Given the description of an element on the screen output the (x, y) to click on. 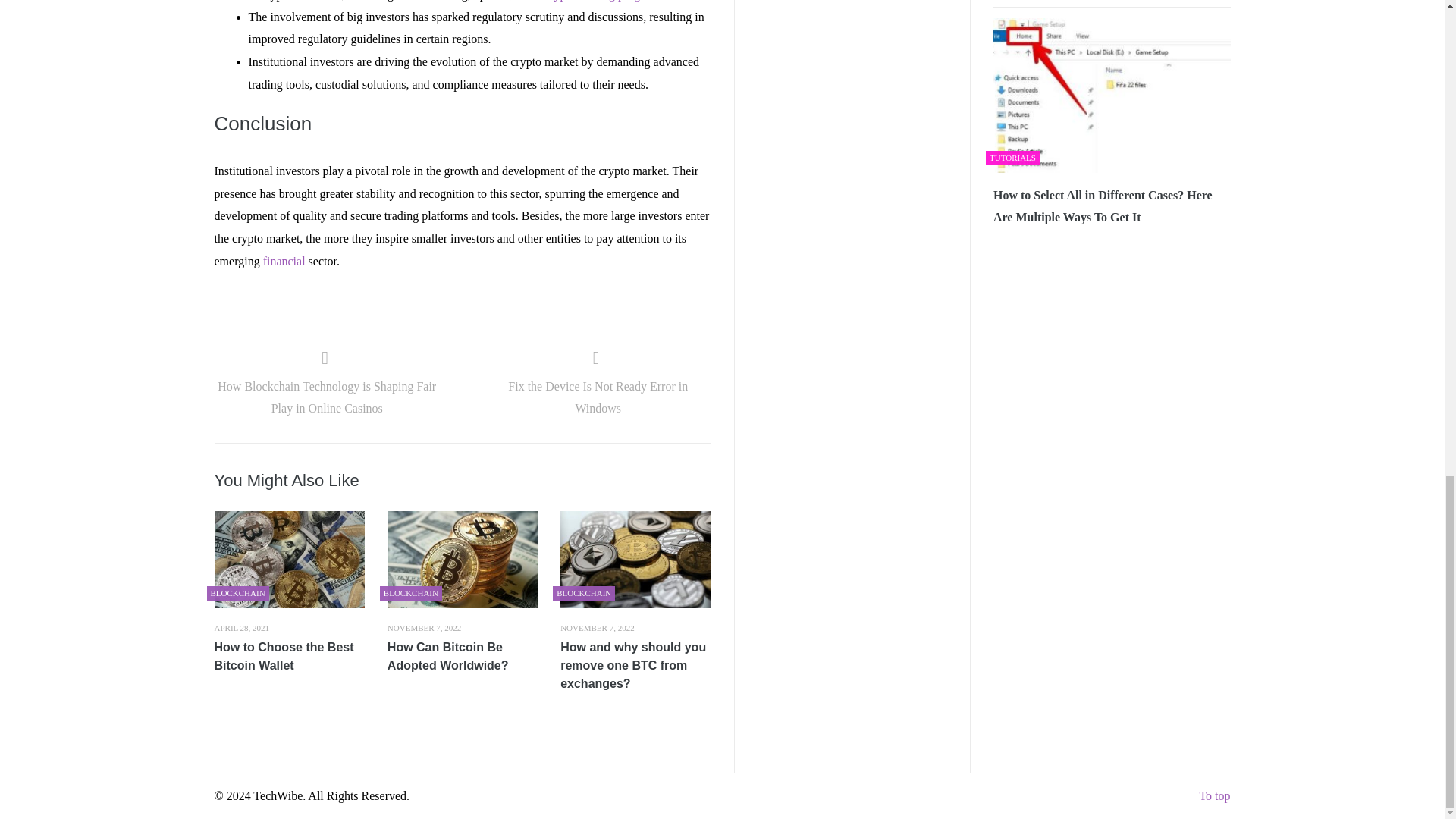
Fix the Device Is Not Ready Error in Windows (597, 384)
financial (284, 260)
How Can Bitcoin Be Adopted Worldwide? (462, 656)
How to Choose the Best Bitcoin Wallet (289, 656)
